Given the description of an element on the screen output the (x, y) to click on. 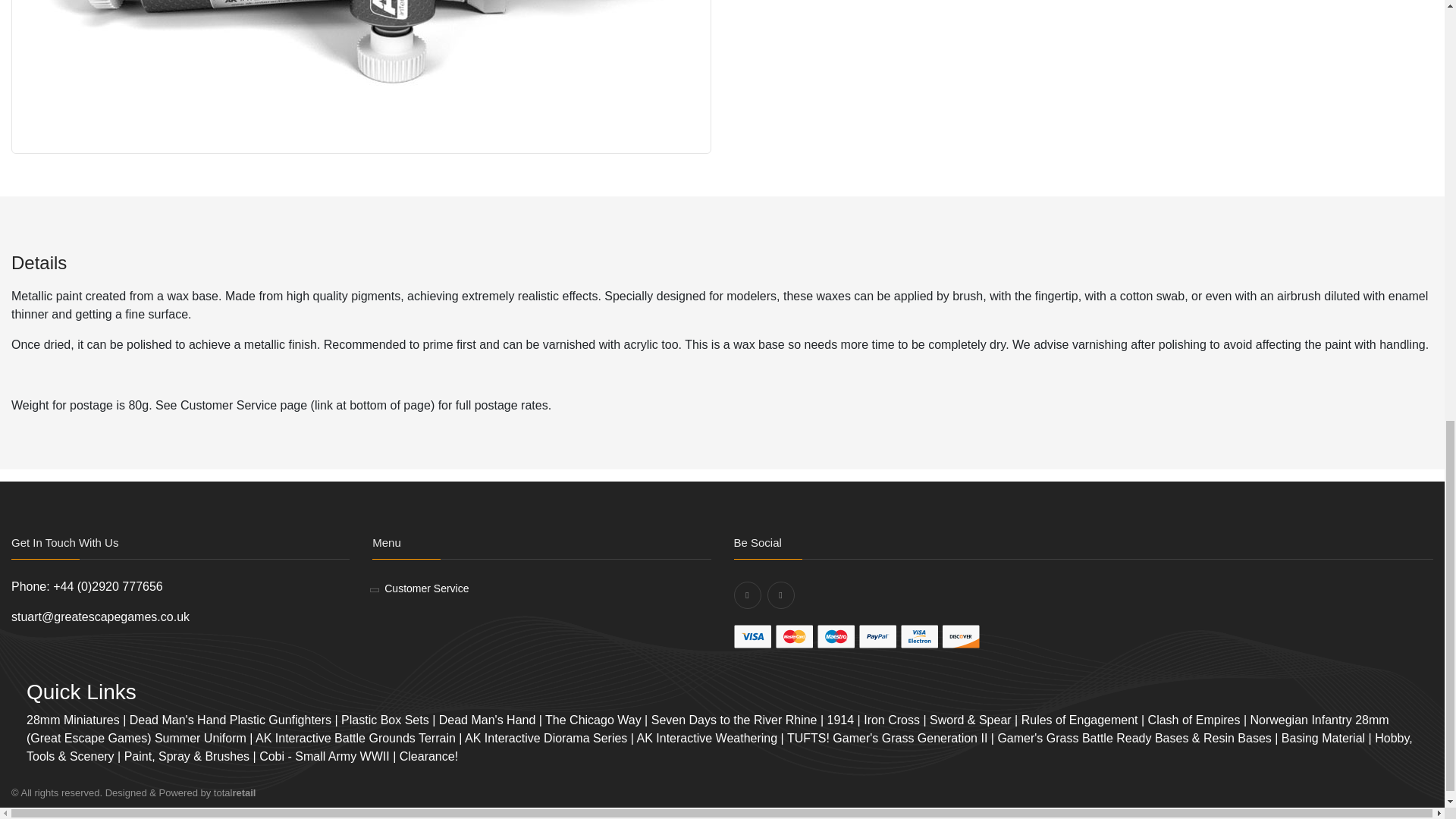
Customer Service (426, 588)
